Given the description of an element on the screen output the (x, y) to click on. 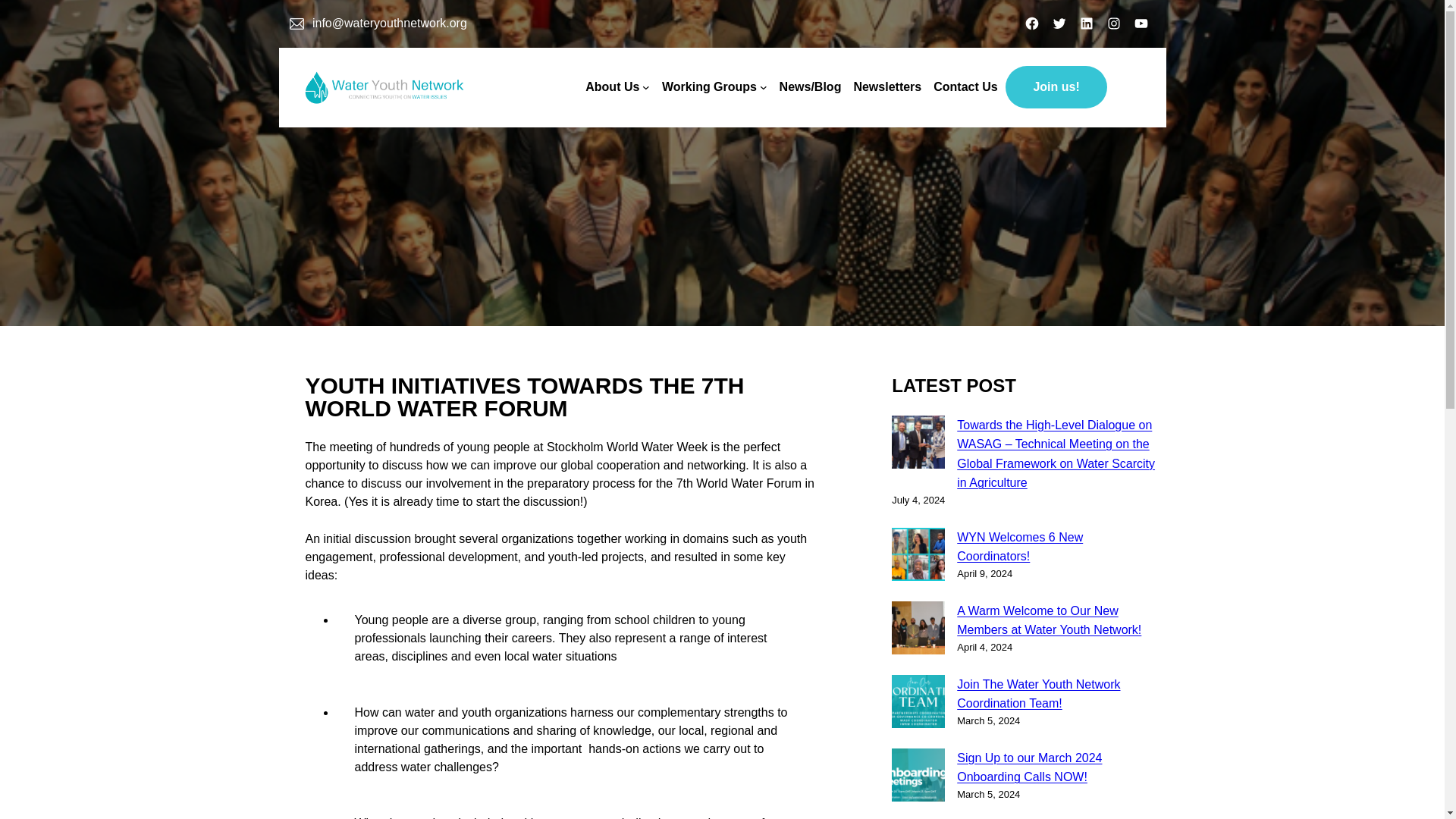
Instagram (1113, 23)
Working Groups (709, 86)
LinkedIn (1086, 23)
Join us! (1056, 87)
WYN Welcomes 6 New Coordinators! (1019, 546)
Sign Up to our March 2024 Onboarding Calls NOW! (1029, 767)
About Us (612, 86)
A Warm Welcome to Our New Members at Water Youth Network! (1048, 620)
Newsletters (887, 86)
Facebook (1032, 23)
Contact Us (965, 86)
YouTube (1141, 23)
Join The Water Youth Network Coordination Team! (1037, 694)
Twitter (1059, 23)
